Given the description of an element on the screen output the (x, y) to click on. 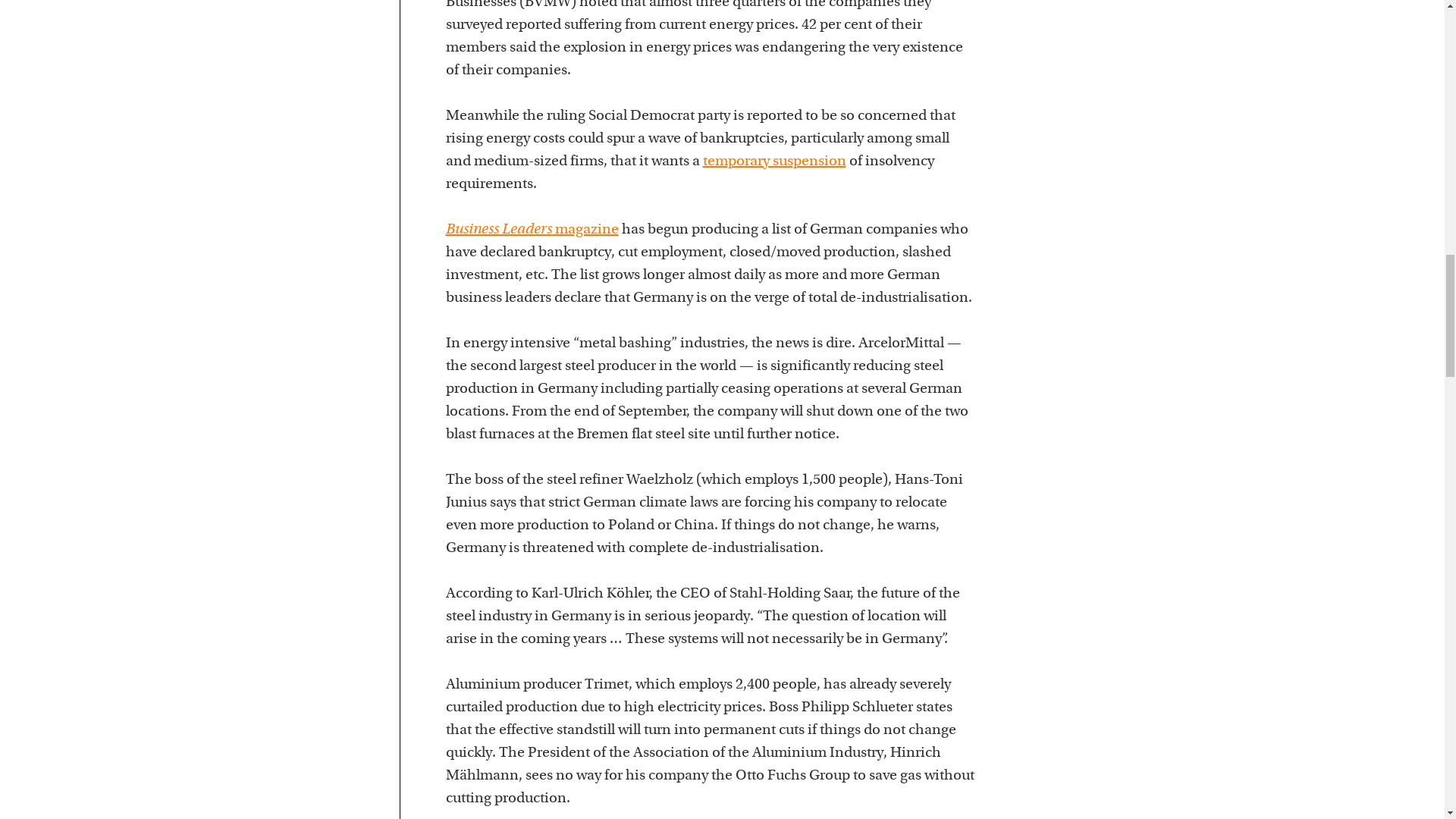
Business Leaders magazine (531, 229)
temporary suspension (773, 160)
